Given the description of an element on the screen output the (x, y) to click on. 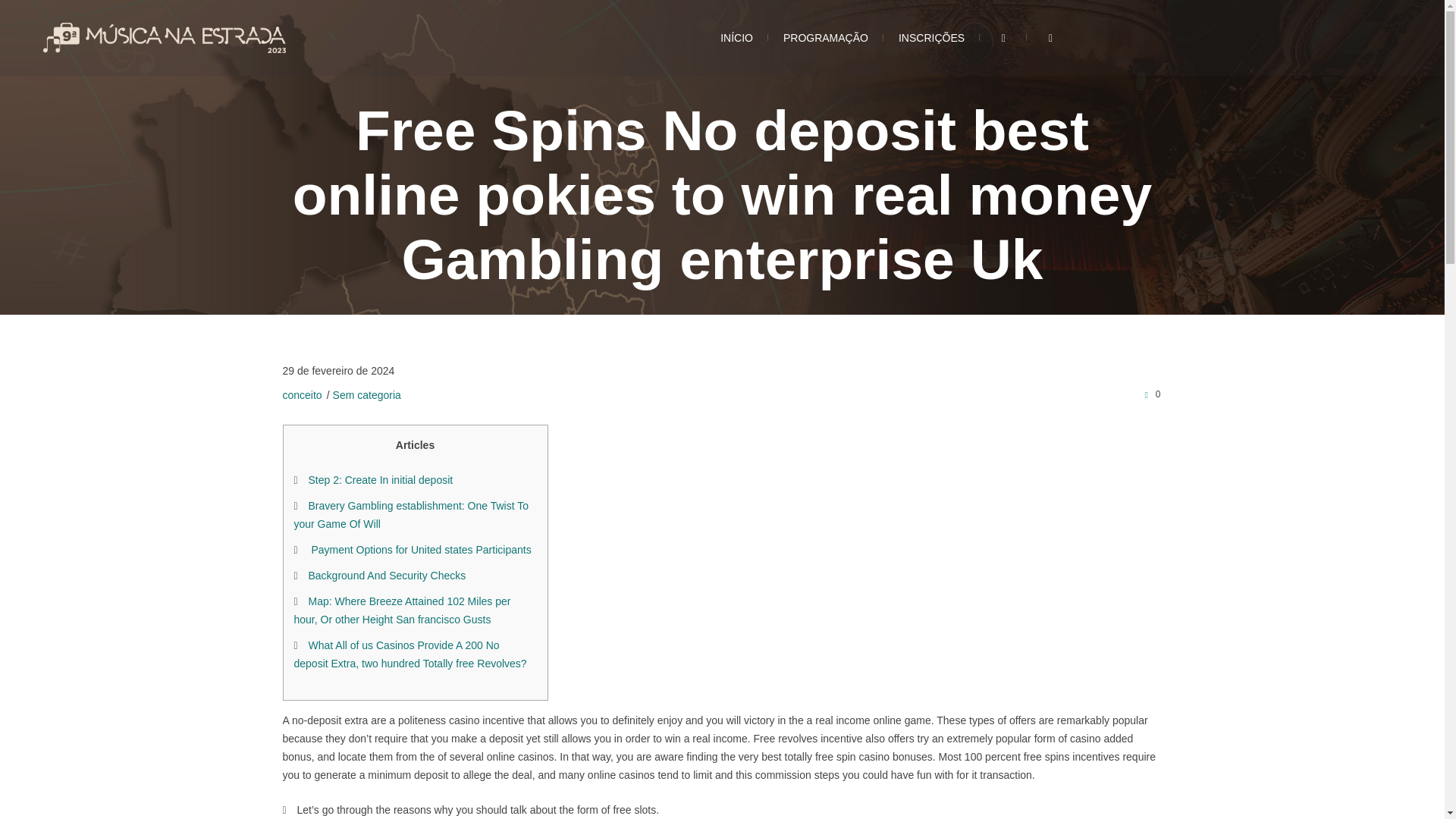
Payment Options for United states Participants (419, 549)
29 de fevereiro de 2024 (338, 370)
Background And Security Checks (386, 575)
Posts by conceito (301, 395)
0 (1150, 394)
conceito (301, 395)
Sem categoria (367, 395)
Step 2: Create In initial deposit (379, 480)
